Given the description of an element on the screen output the (x, y) to click on. 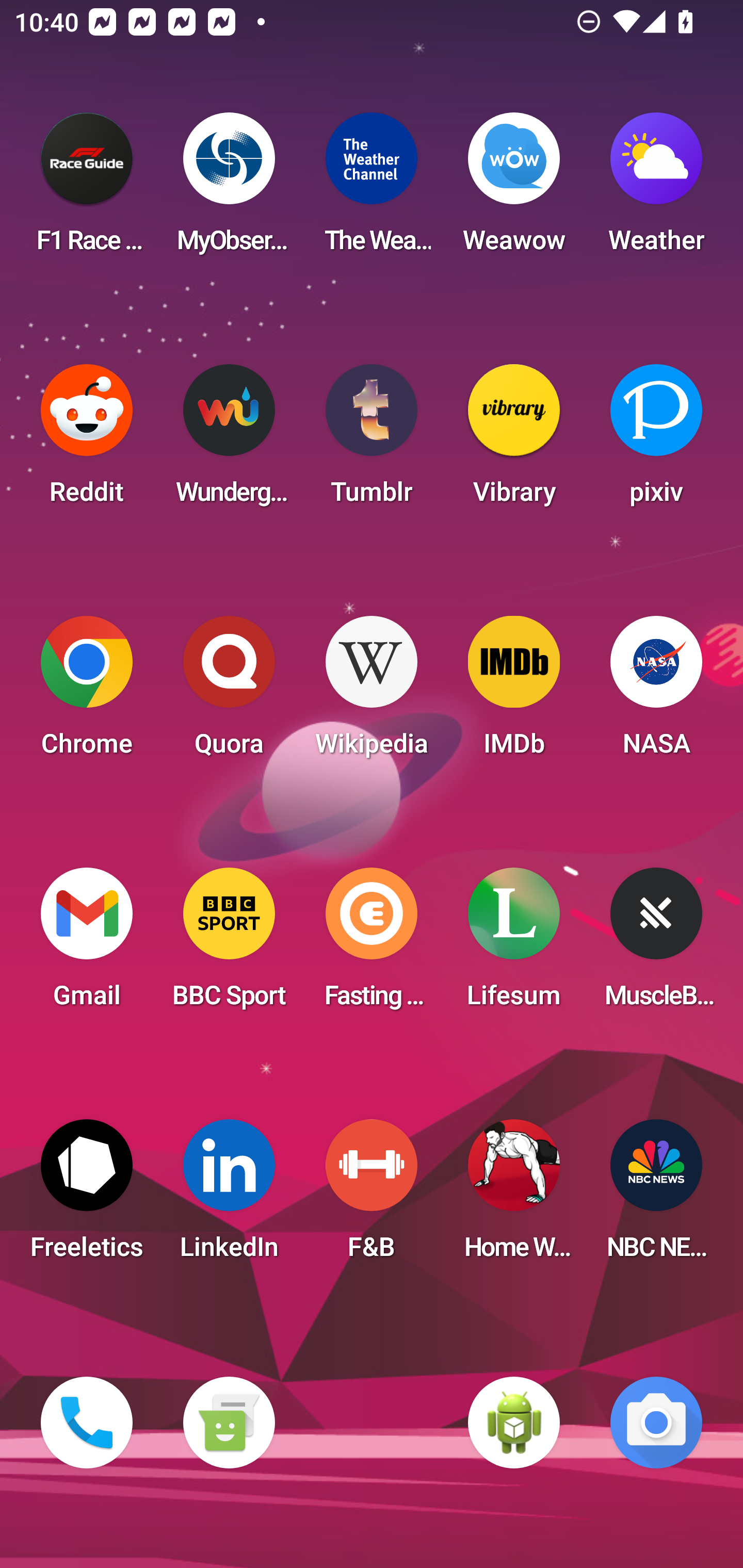
F1 Race Guide (86, 188)
MyObservatory (228, 188)
The Weather Channel (371, 188)
Weawow (513, 188)
Weather (656, 188)
Reddit (86, 440)
Wunderground (228, 440)
Tumblr (371, 440)
Vibrary (513, 440)
pixiv (656, 440)
Chrome (86, 692)
Quora (228, 692)
Wikipedia (371, 692)
IMDb (513, 692)
NASA (656, 692)
Gmail (86, 943)
BBC Sport (228, 943)
Fasting Coach (371, 943)
Lifesum (513, 943)
MuscleBooster (656, 943)
Freeletics (86, 1195)
LinkedIn (228, 1195)
F&B (371, 1195)
Home Workout (513, 1195)
NBC NEWS (656, 1195)
Phone (86, 1422)
Messaging (228, 1422)
WebView Browser Tester (513, 1422)
Camera (656, 1422)
